Given the description of an element on the screen output the (x, y) to click on. 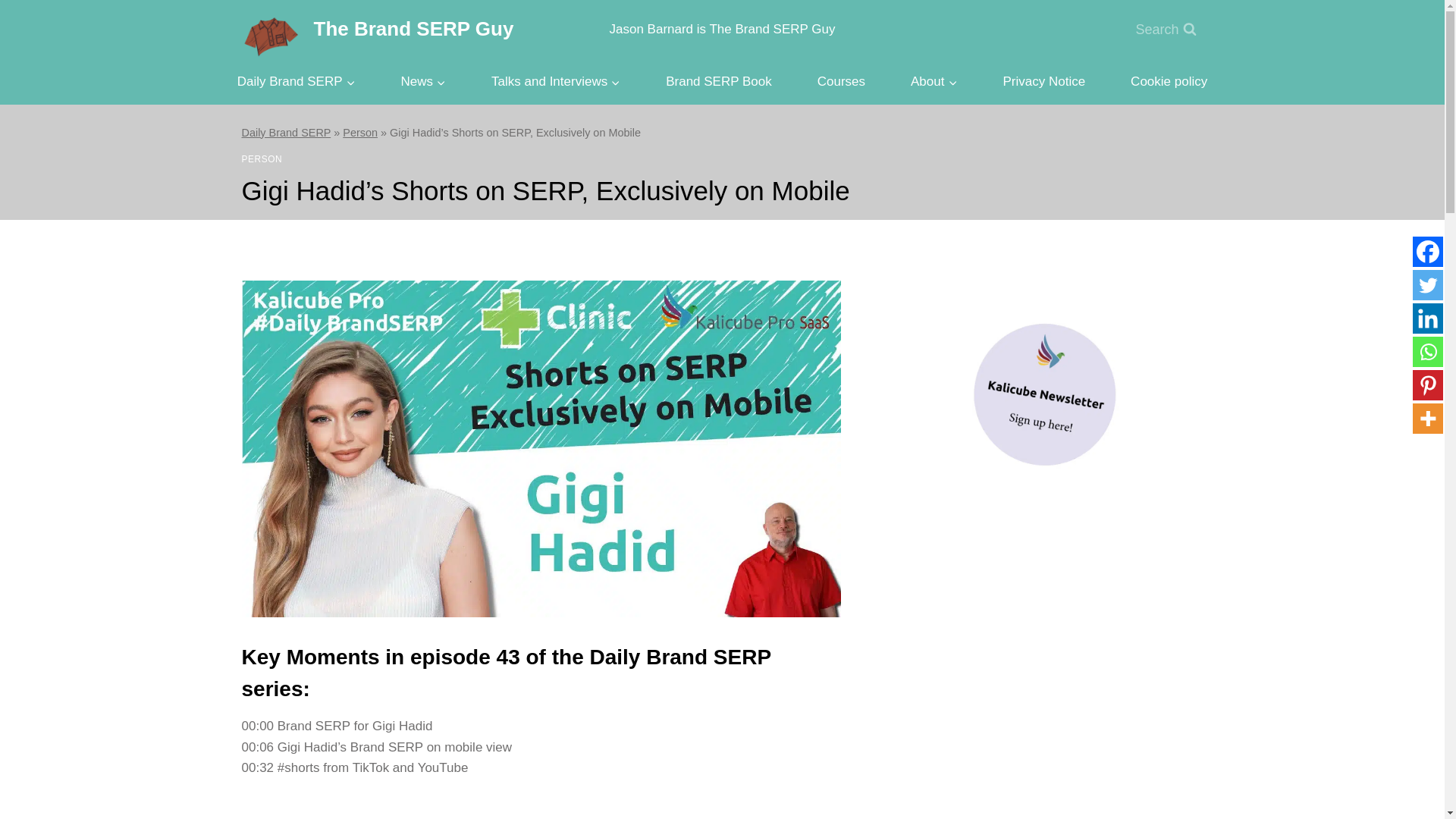
Courses (841, 81)
Twitter (1427, 285)
Cookie policy (1168, 81)
News (422, 81)
Daily Brand SERP (285, 132)
Search (1165, 29)
Brand SERP Book (718, 81)
About (933, 81)
More (1427, 418)
Person (359, 132)
Linkedin (1427, 318)
The Brand SERP Guy (377, 29)
Facebook (1427, 251)
Pinterest (1427, 385)
Whatsapp (1427, 351)
